Given the description of an element on the screen output the (x, y) to click on. 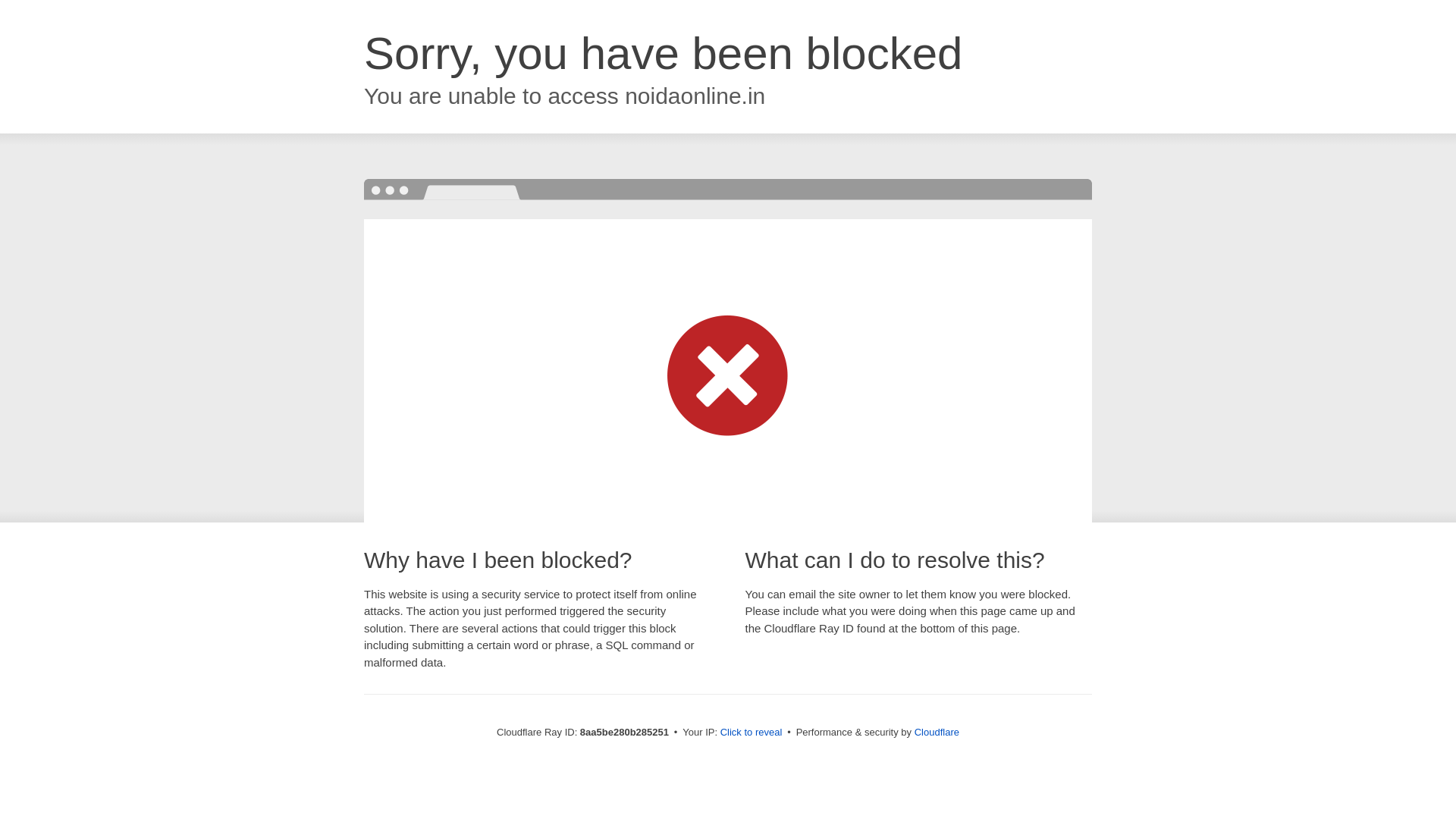
Cloudflare (936, 731)
Click to reveal (751, 732)
